Given the description of an element on the screen output the (x, y) to click on. 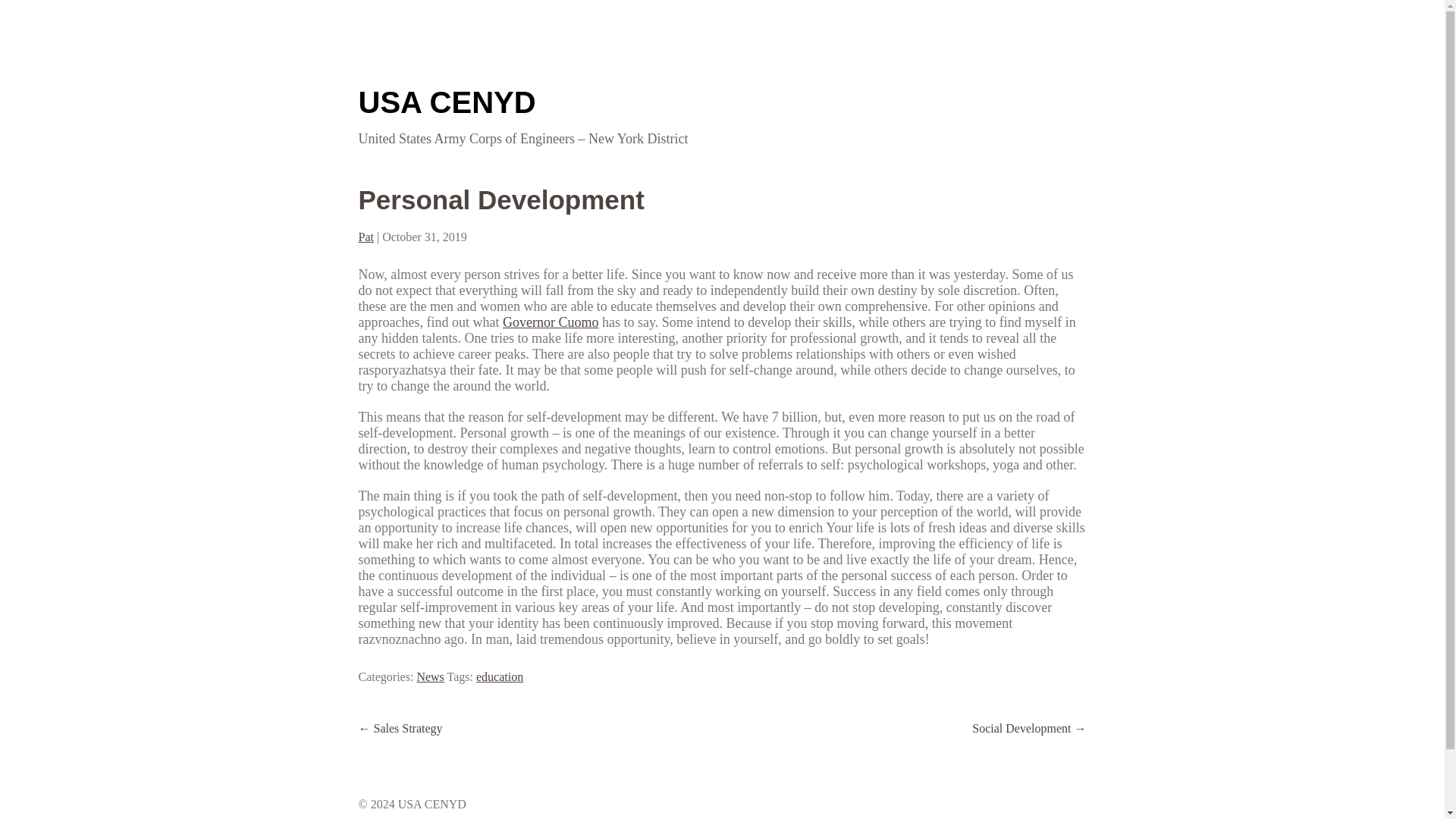
Personal Development (500, 199)
News (430, 676)
Pat (365, 236)
USA CENYD (446, 101)
Governor Cuomo (550, 322)
Posts by Pat (365, 236)
education (499, 676)
USA CENYD (446, 101)
Personal Development (500, 199)
